Given the description of an element on the screen output the (x, y) to click on. 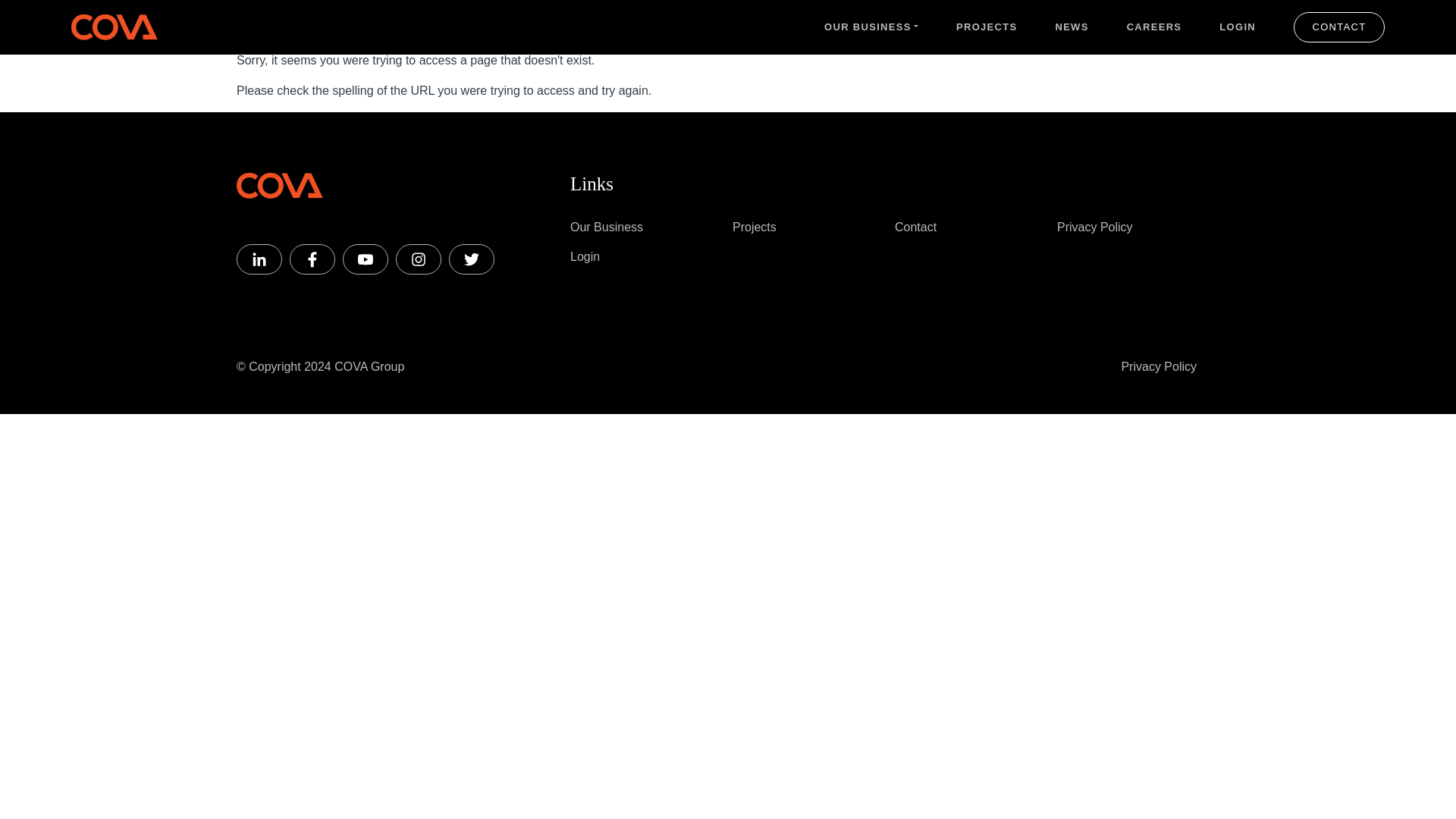
Privacy Policy (1094, 226)
OUR BUSINESS (871, 27)
Our Business (606, 226)
NEWS (1070, 27)
CONTACT (1339, 27)
Projects (754, 226)
Contact (915, 226)
LOGIN (1237, 27)
PROJECTS (986, 27)
CAREERS (1154, 27)
